Given the description of an element on the screen output the (x, y) to click on. 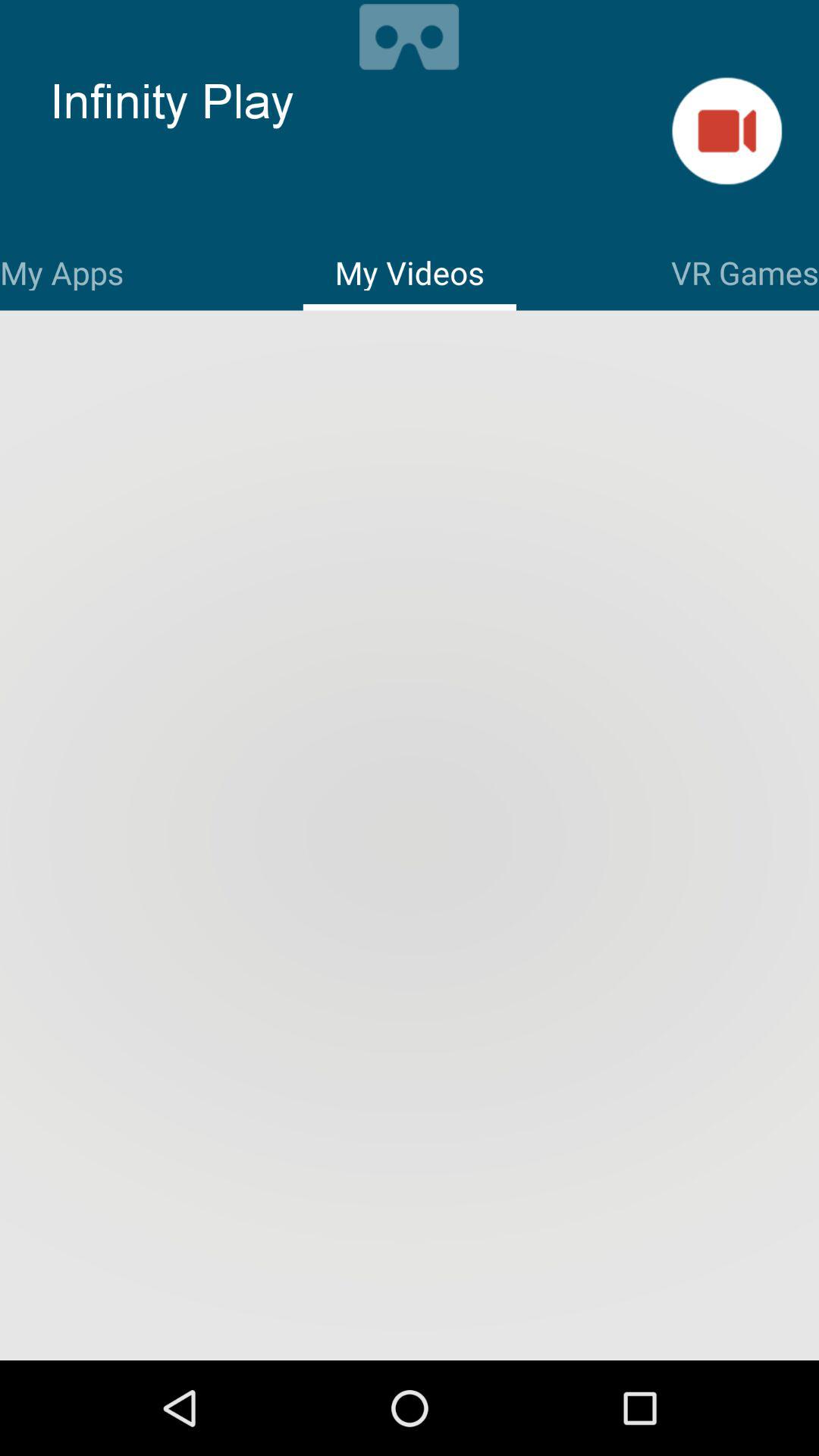
click item at the center (409, 837)
